Given the description of an element on the screen output the (x, y) to click on. 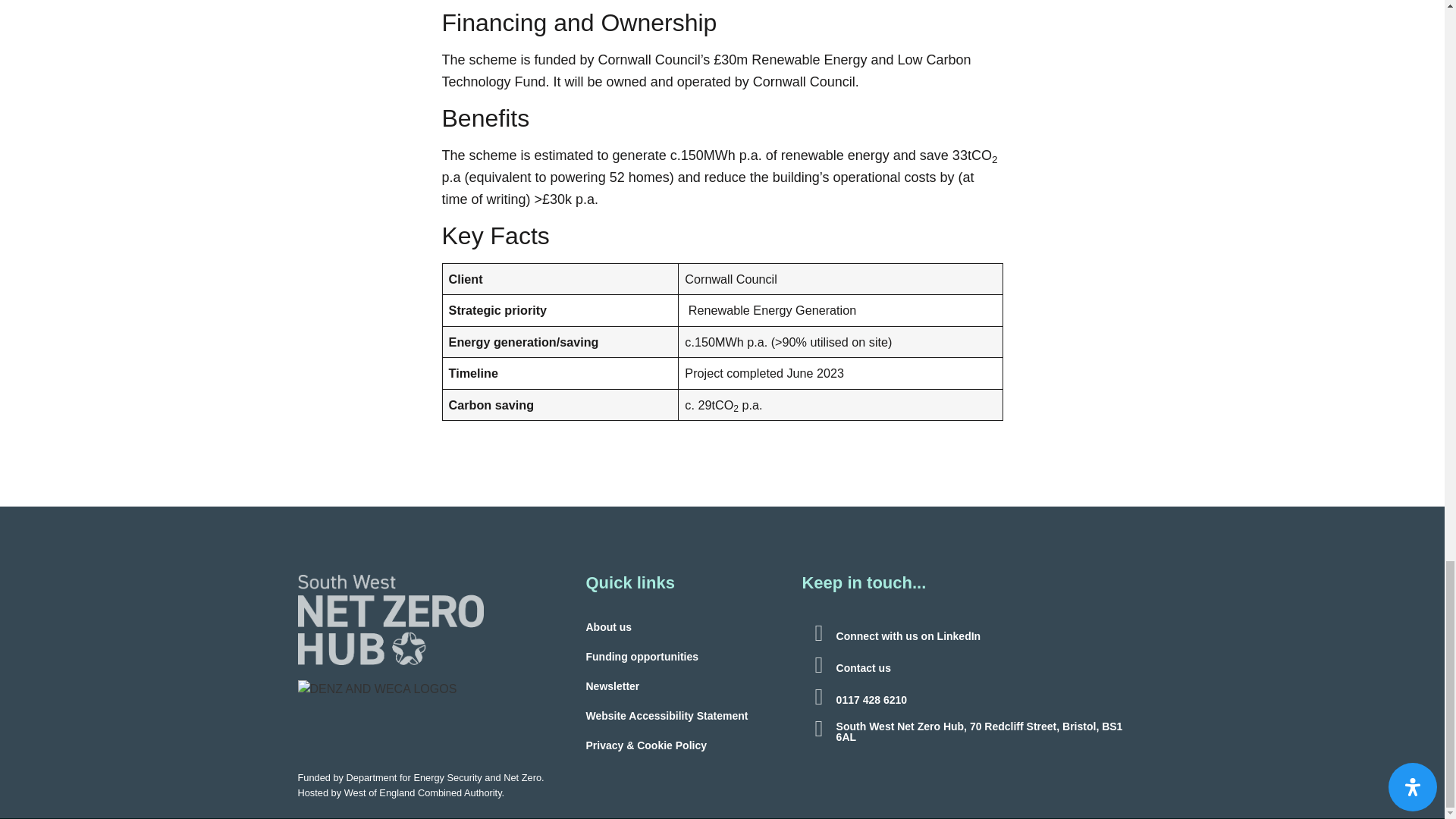
Visit our homepage (390, 619)
Find us on Google Maps (818, 728)
Visit our LinkedIn page (818, 632)
Call us (818, 696)
Contact Us (818, 664)
